Given the description of an element on the screen output the (x, y) to click on. 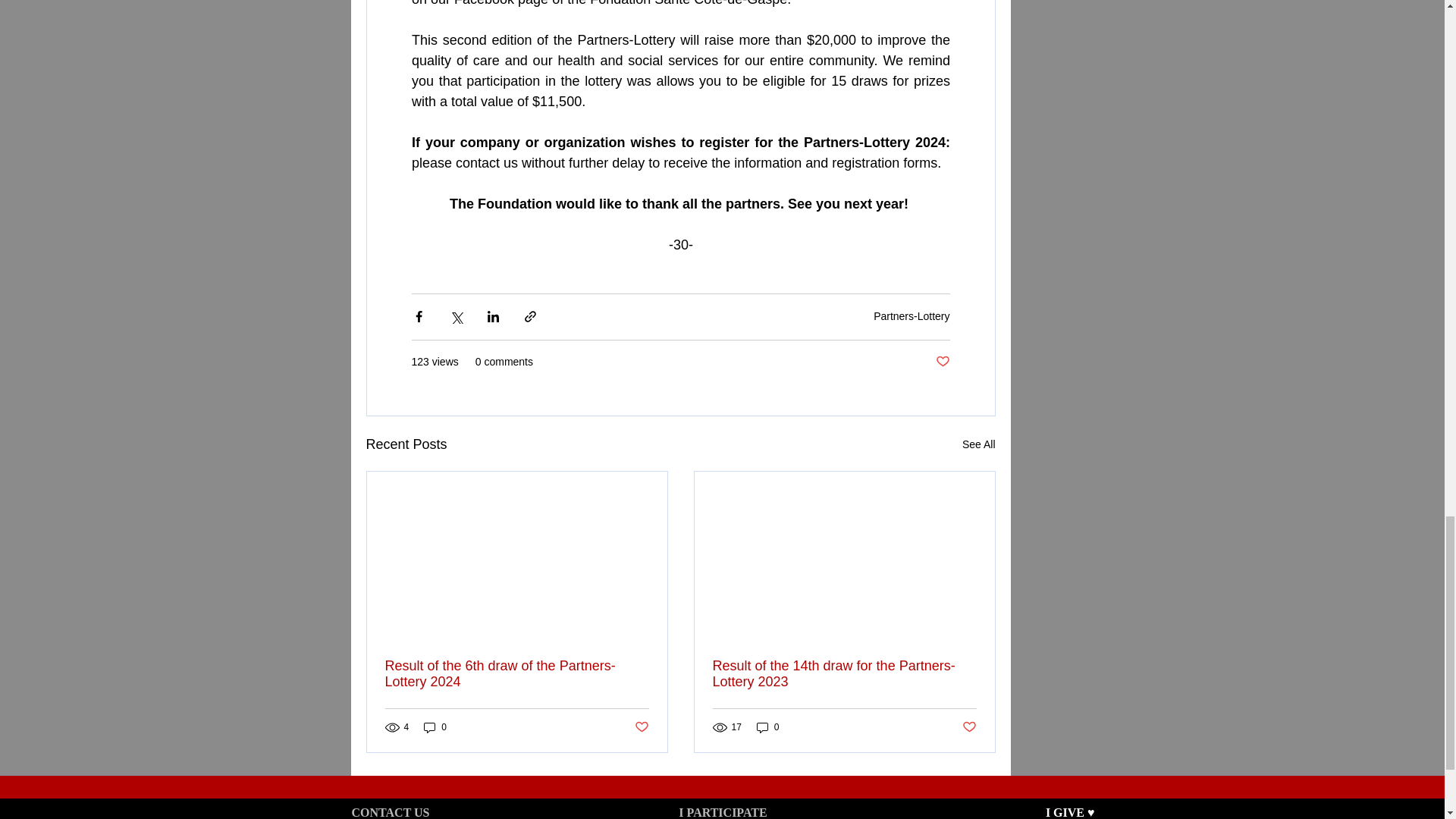
Post not marked as liked (967, 727)
0 (767, 727)
0 (435, 727)
Result of the 14th draw for the Partners-Lottery 2023 (844, 674)
Post not marked as liked (943, 361)
Post not marked as liked (640, 727)
Partners-Lottery (911, 316)
See All (978, 444)
Result of the 6th draw of the Partners-Lottery 2024 (517, 674)
